Given the description of an element on the screen output the (x, y) to click on. 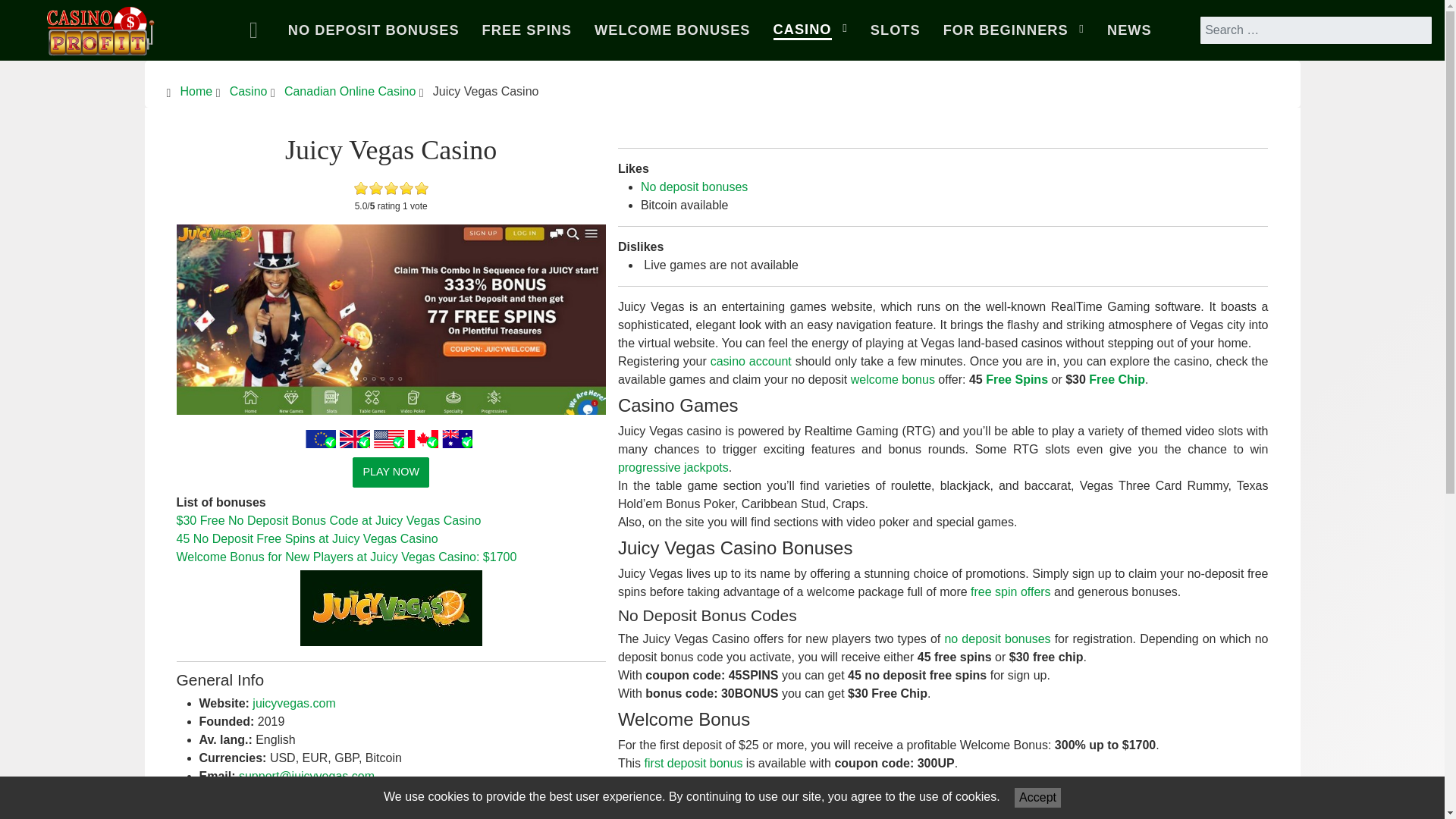
CASINO (809, 30)
No deposit bonuses (694, 186)
Australia availible (456, 438)
EU availible (320, 438)
Juicy Vegas Casino with Free Bonuses for Sign Up (390, 319)
Bonus Profit (100, 28)
3 out of 5 (375, 187)
1 out of 5 (360, 187)
5 out of 5 (391, 187)
Great Britain availible (354, 438)
NEWS (1128, 29)
SLOTS (895, 29)
Home (196, 91)
Canada availible (422, 438)
Home (257, 30)
